Given the description of an element on the screen output the (x, y) to click on. 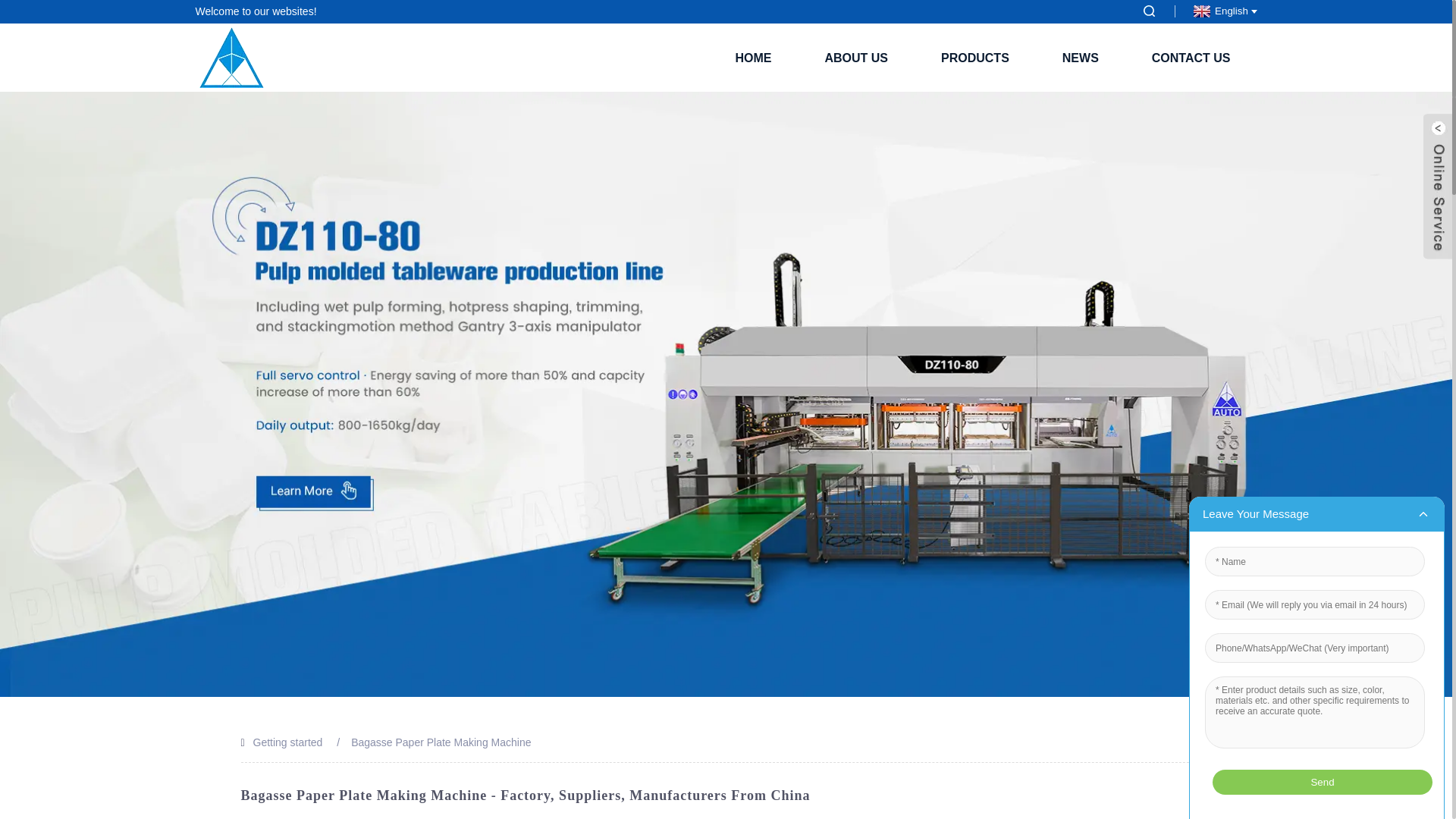
Getting started (288, 742)
Bagasse Paper Plate Making Machine (440, 742)
HOME (752, 57)
NEWS (1080, 57)
CONTACT US (1191, 57)
PRODUCTS (974, 57)
English (1222, 10)
ABOUT US (855, 57)
